Given the description of an element on the screen output the (x, y) to click on. 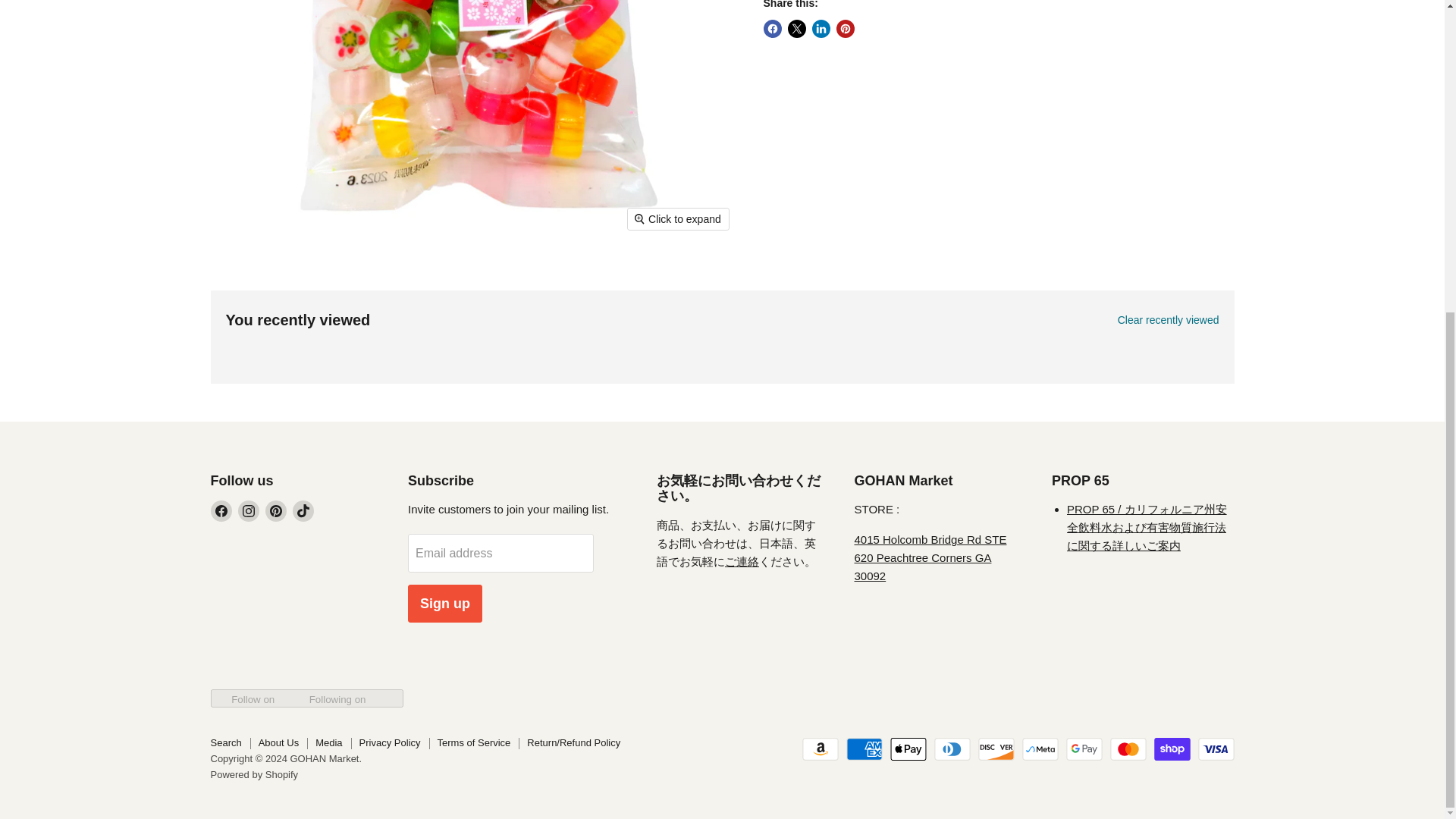
Facebook (221, 510)
TikTok (303, 510)
Pinterest (275, 510)
California Proposition 65 (1147, 527)
Instagram (248, 510)
